Given the description of an element on the screen output the (x, y) to click on. 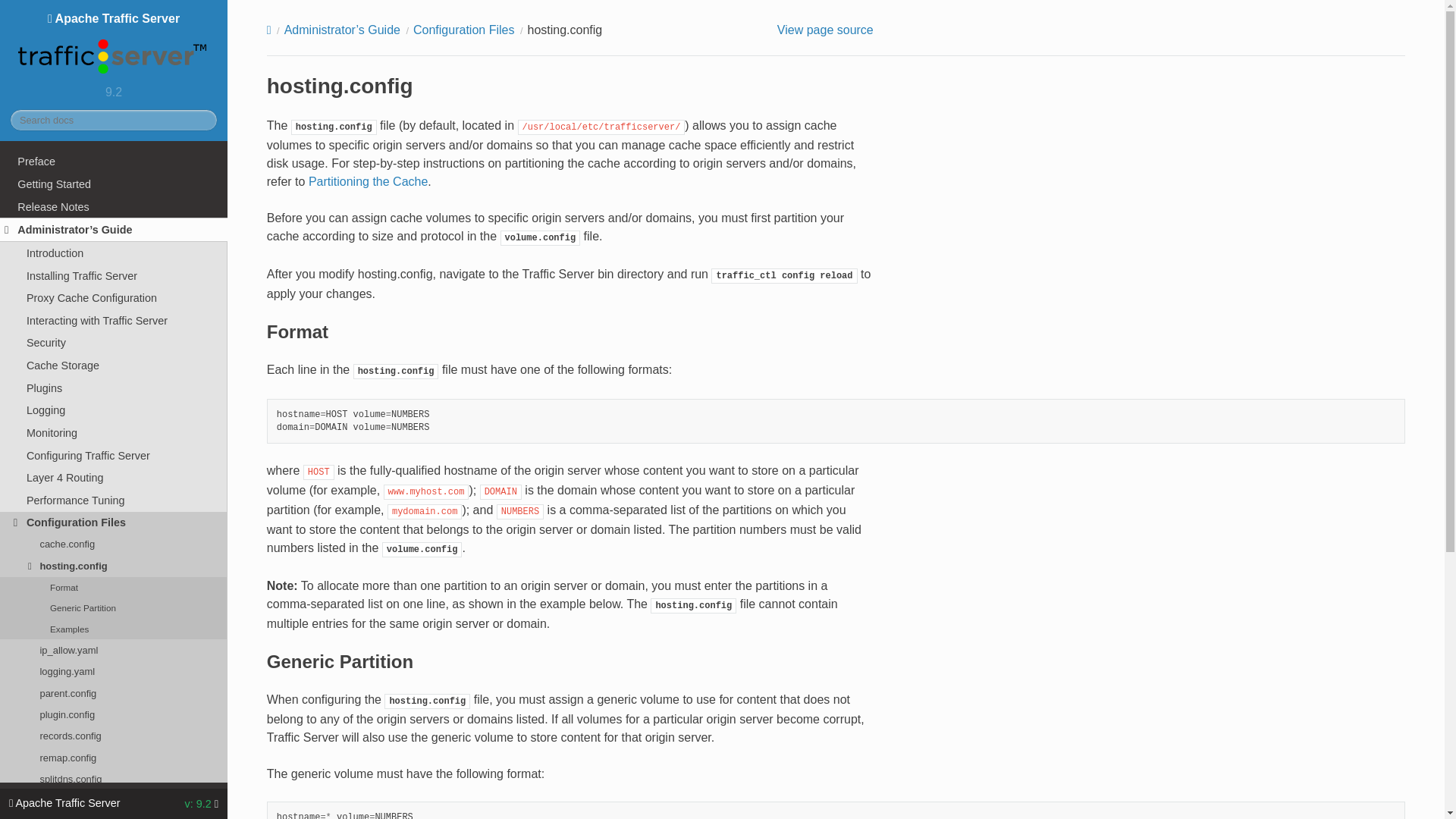
Getting Started (113, 183)
records.config (113, 735)
Monitoring (113, 432)
Proxy Cache Configuration (113, 297)
cache.config (113, 544)
Installing Traffic Server (113, 275)
Introduction (113, 252)
Configuration Files (113, 522)
Security (113, 343)
Interacting with Traffic Server (113, 320)
